Given the description of an element on the screen output the (x, y) to click on. 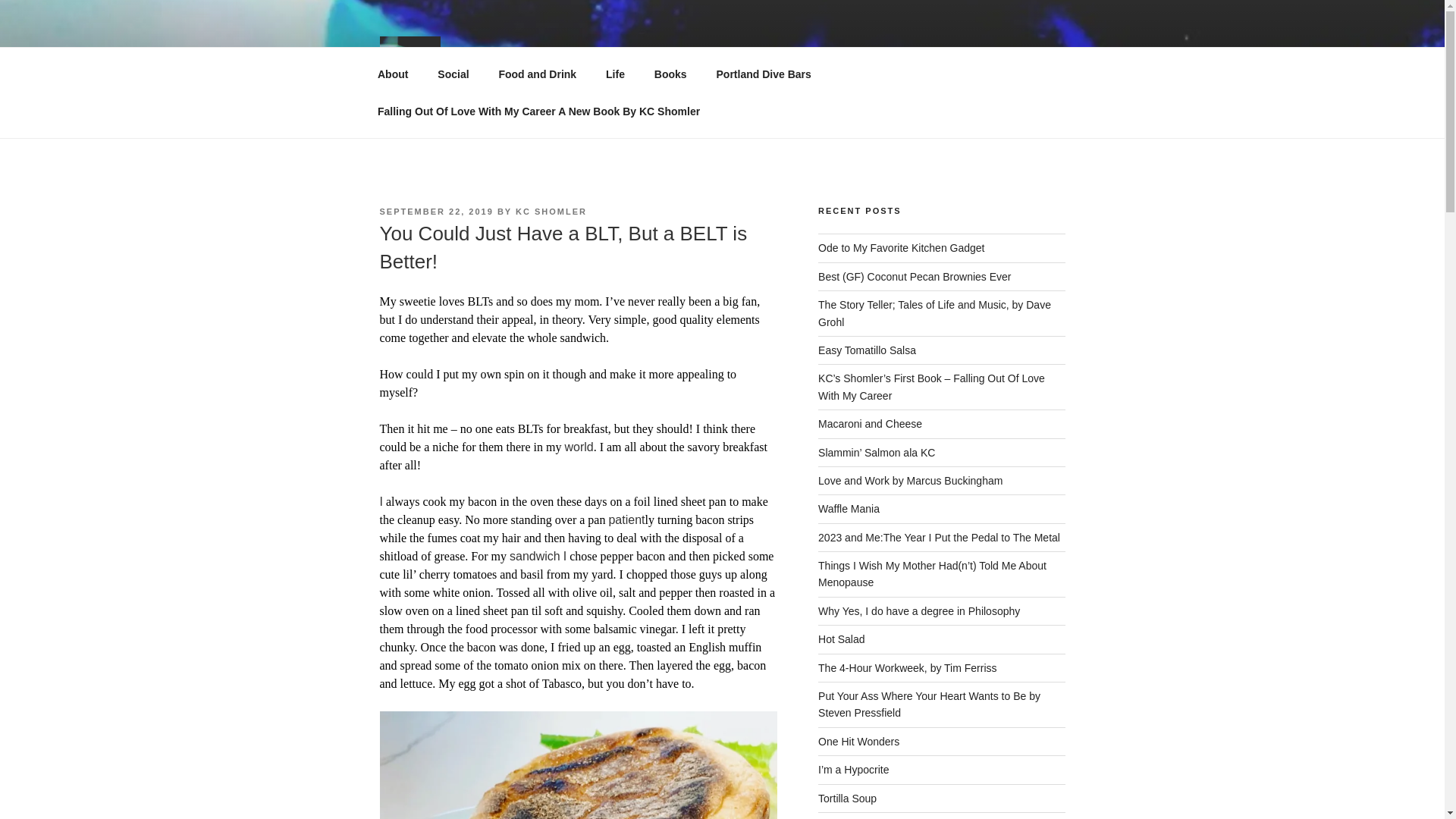
2023 and Me:The Year I Put the Pedal to The Metal (938, 537)
Waffle Mania (848, 508)
Social (453, 74)
Easy Tomatillo Salsa (866, 349)
The 4-Hour Workweek, by Tim Ferriss (906, 667)
Food and Drink (536, 74)
Why Yes, I do have a degree in Philosophy (919, 611)
The Story Teller; Tales of Life and Music, by Dave Grohl (934, 312)
SEPTEMBER 22, 2019 (435, 211)
KC SHOMLER (550, 211)
Portland Dive Bars (763, 74)
Love and Work by Marcus Buckingham (910, 480)
About (392, 74)
Life (615, 74)
Books (670, 74)
